Given the description of an element on the screen output the (x, y) to click on. 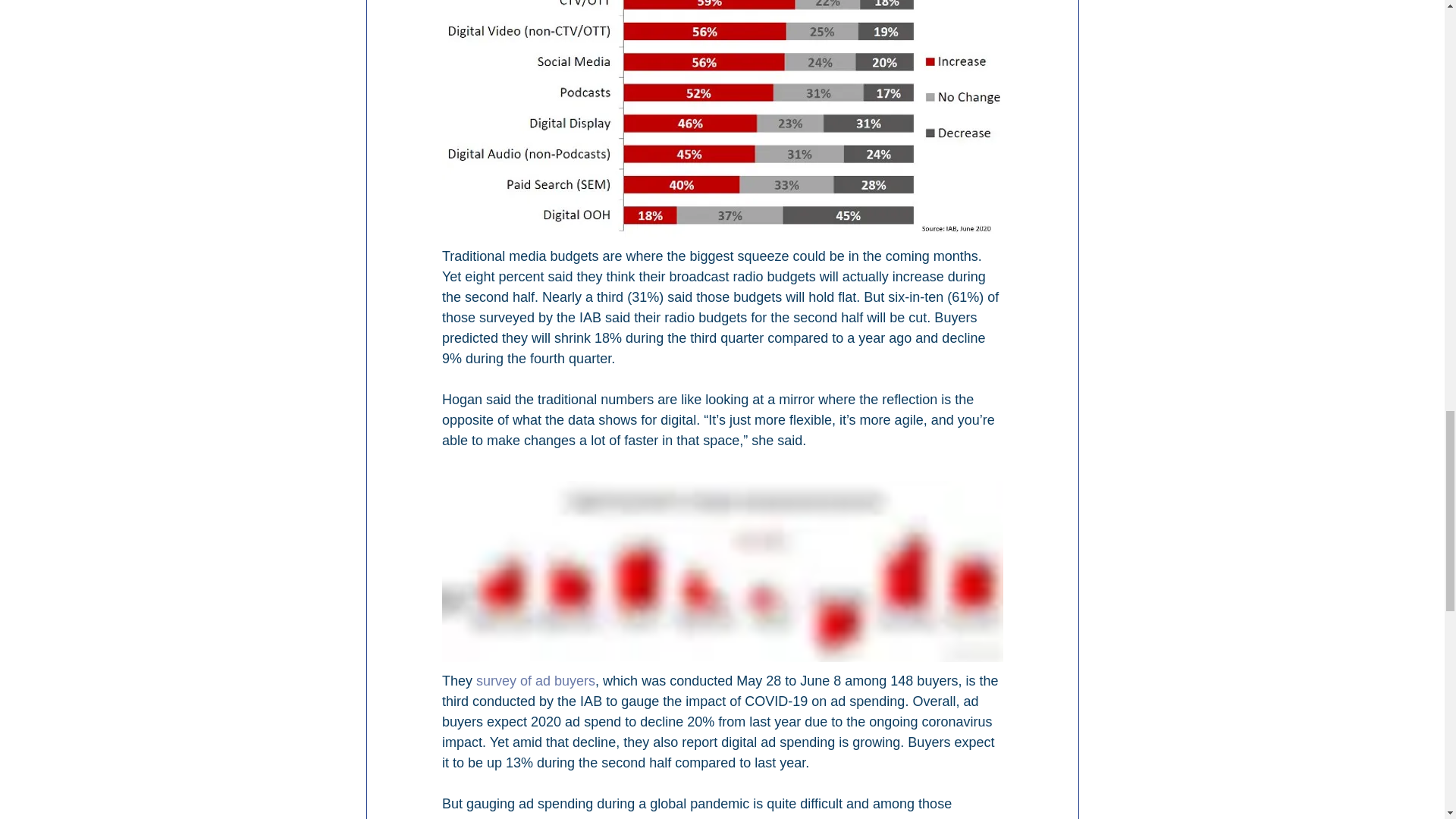
survey of ad buyers (535, 680)
